Given the description of an element on the screen output the (x, y) to click on. 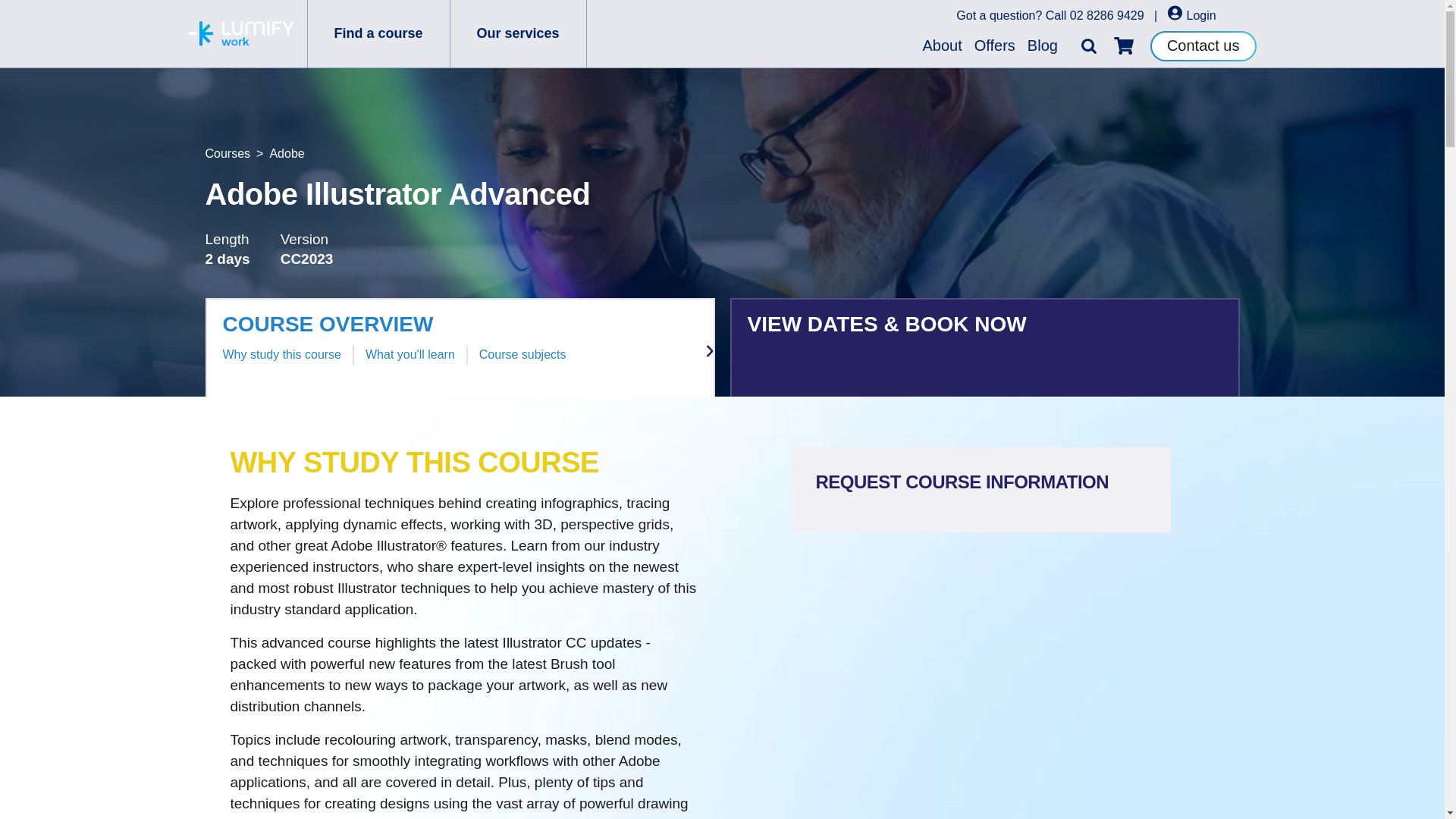
Contact us (1203, 45)
What you'll learn (409, 354)
Course subjects (522, 354)
About (941, 45)
02 8286 9429 (1107, 15)
Adobe (286, 153)
Our services (517, 33)
homepage (240, 33)
Courses (227, 153)
Checkout (1123, 46)
Login (1191, 15)
Offers (995, 45)
Why study this course (282, 354)
Blog (1043, 45)
Find a course (378, 33)
